Given the description of an element on the screen output the (x, y) to click on. 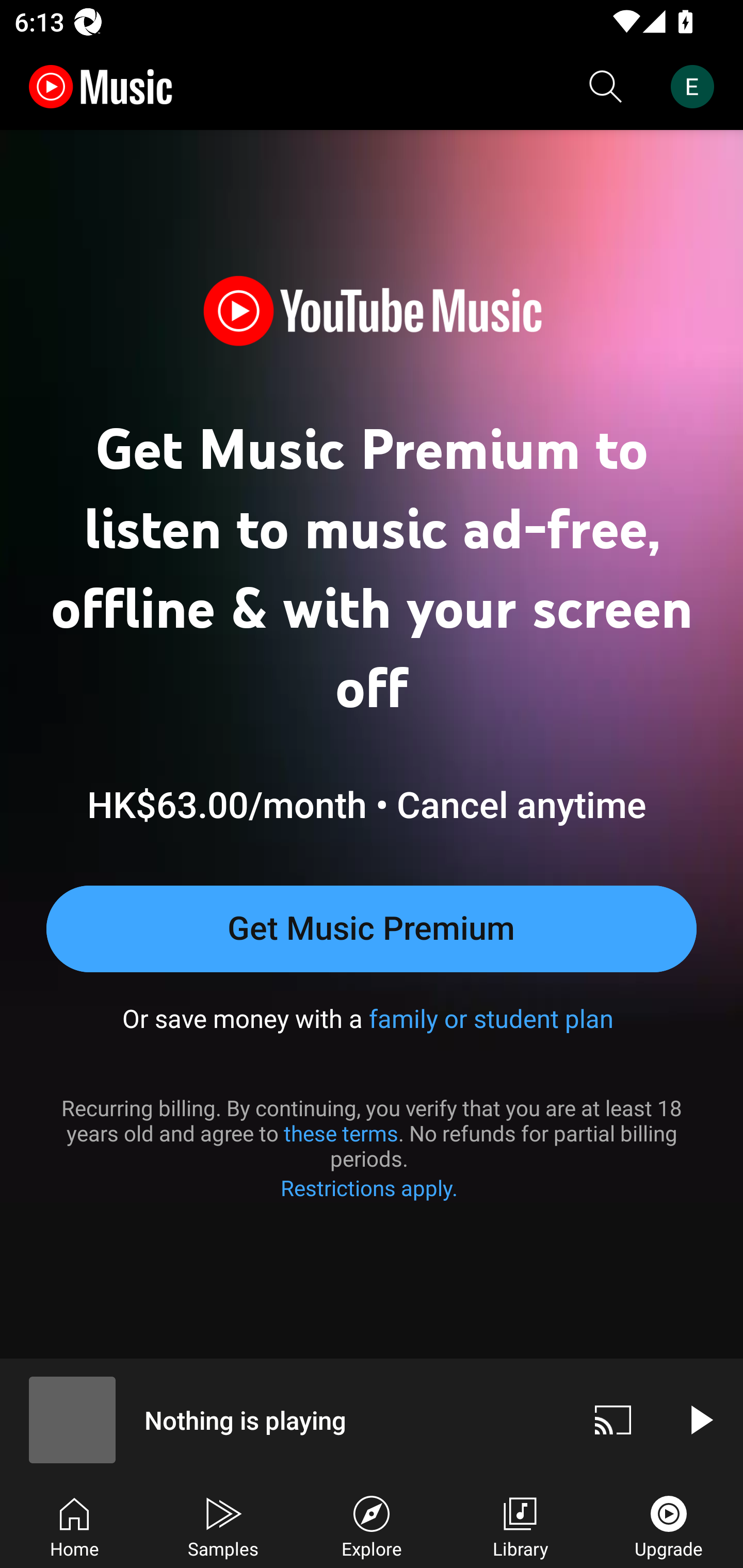
Search (605, 86)
Account (696, 86)
Get Music Premium (371, 928)
Nothing is playing (284, 1419)
Cast. Disconnected (612, 1419)
Play video (699, 1419)
Home (74, 1524)
Samples (222, 1524)
Explore (371, 1524)
Library (519, 1524)
